Given the description of an element on the screen output the (x, y) to click on. 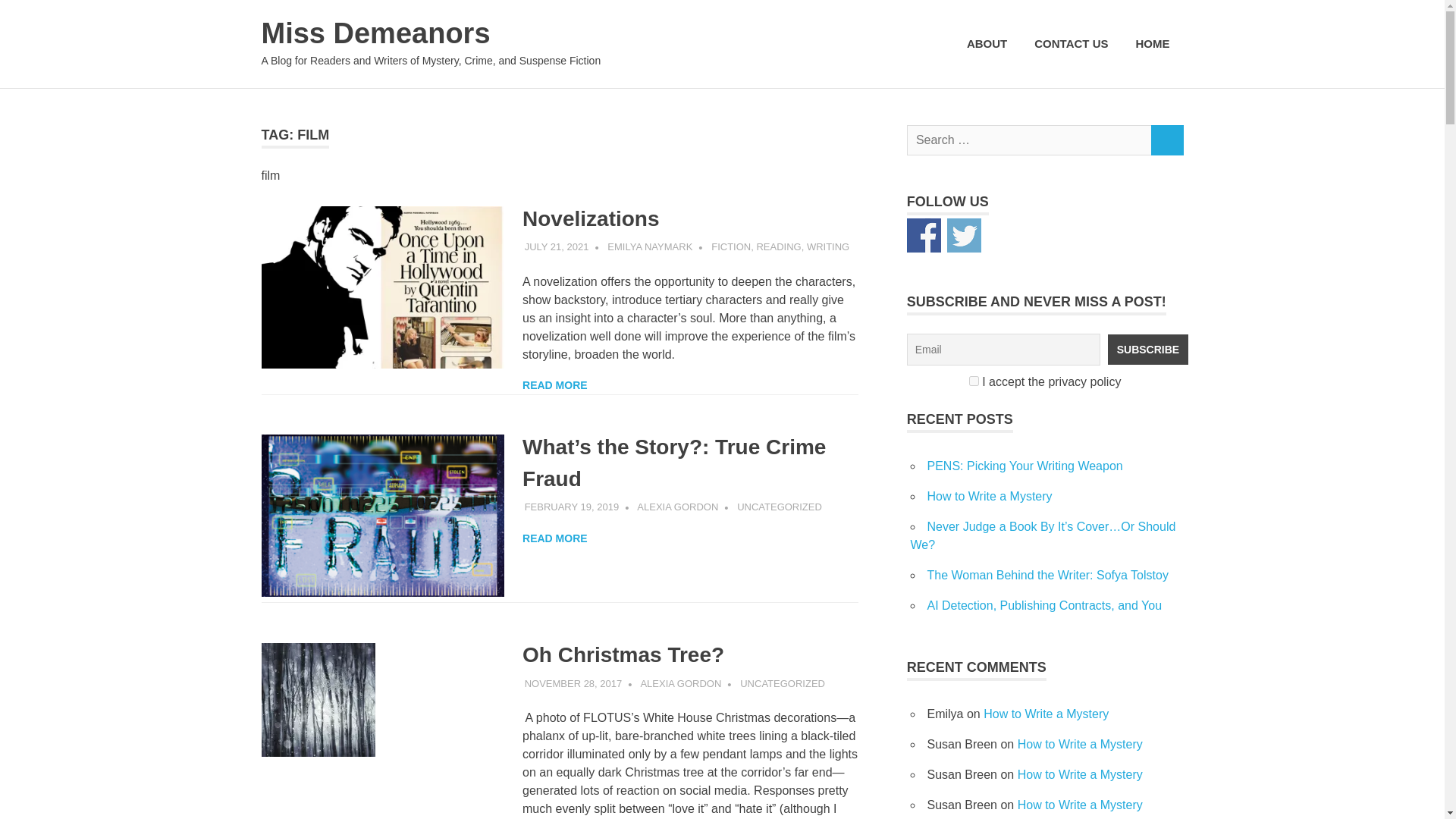
HOME (1152, 44)
Subscribe (1148, 349)
9:30 am (556, 246)
READ MORE (555, 538)
ALEXIA GORDON (680, 683)
Oh Christmas Tree? (622, 654)
UNCATEGORIZED (779, 506)
FEBRUARY 19, 2019 (572, 506)
ABOUT (986, 44)
FICTION (731, 246)
